Given the description of an element on the screen output the (x, y) to click on. 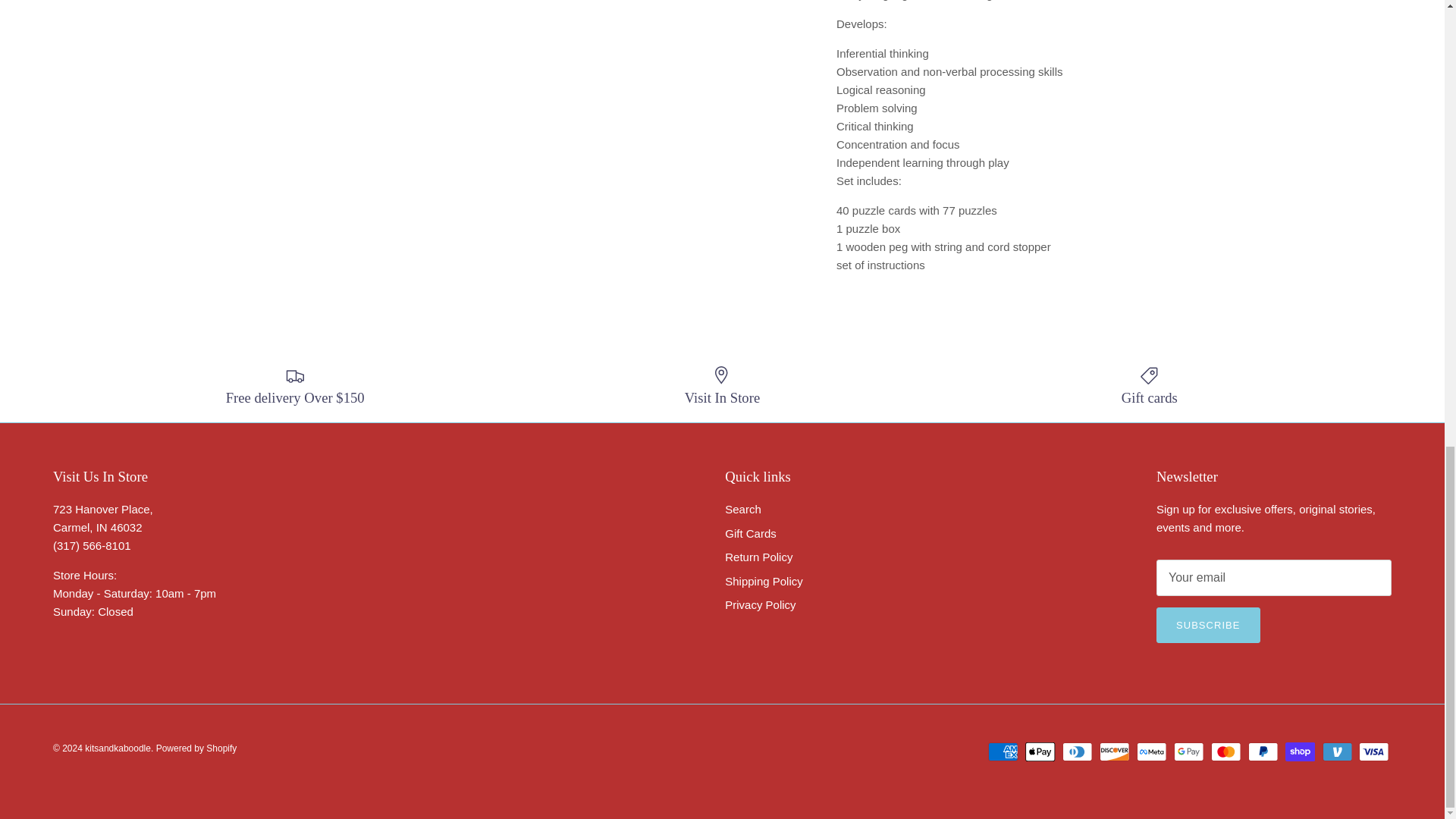
PayPal (1262, 751)
Diners Club (1077, 751)
Apple Pay (1040, 751)
Shop Pay (1299, 751)
Mastercard (1225, 751)
American Express (1002, 751)
Meta Pay (1151, 751)
Discover (1114, 751)
Google Pay (1188, 751)
